Given the description of an element on the screen output the (x, y) to click on. 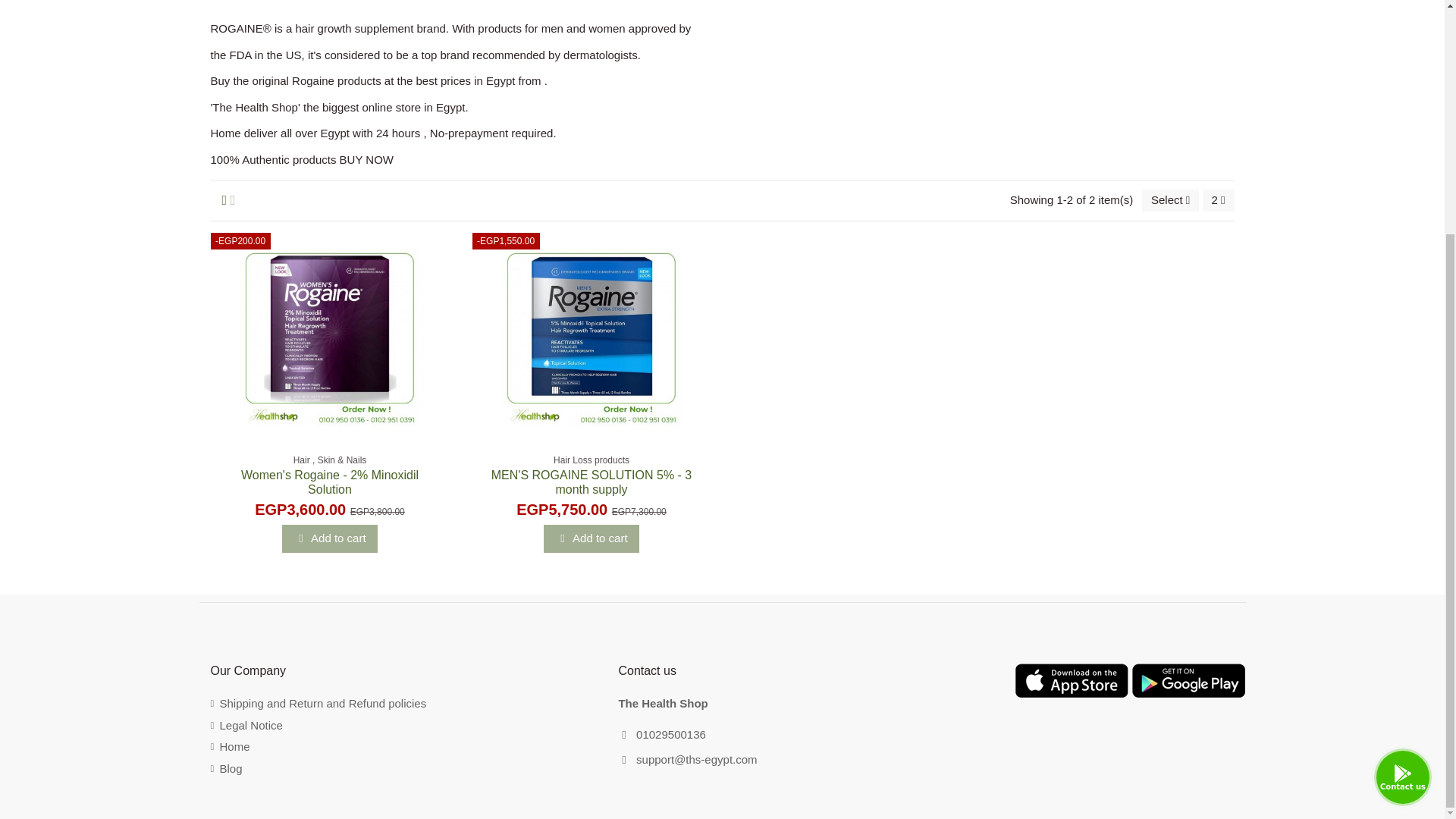
Our terms and conditions of returns and refunds (318, 703)
Legal notice (246, 725)
